Given the description of an element on the screen output the (x, y) to click on. 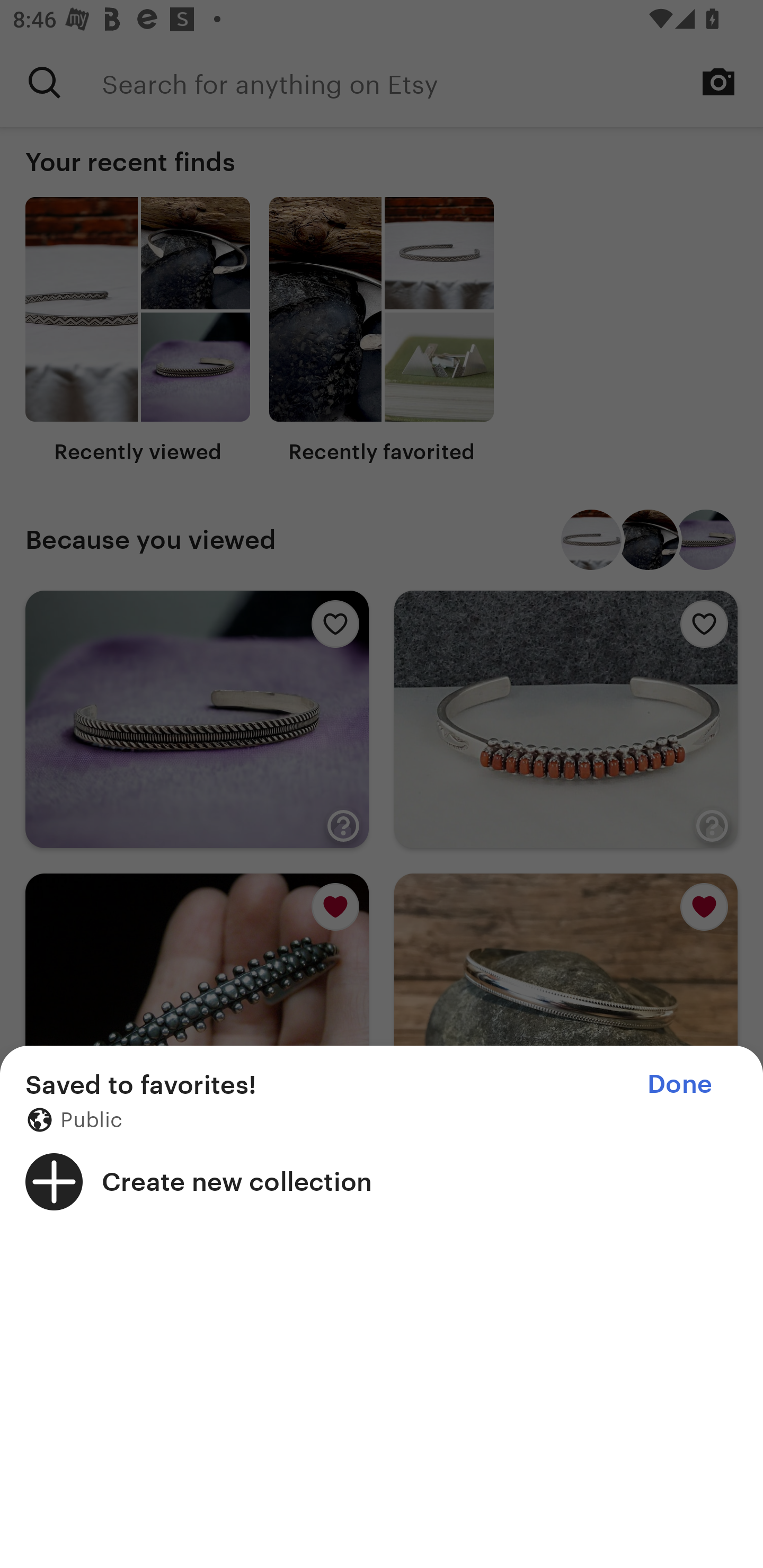
Done (679, 1083)
Create new collection (381, 1181)
